Given the description of an element on the screen output the (x, y) to click on. 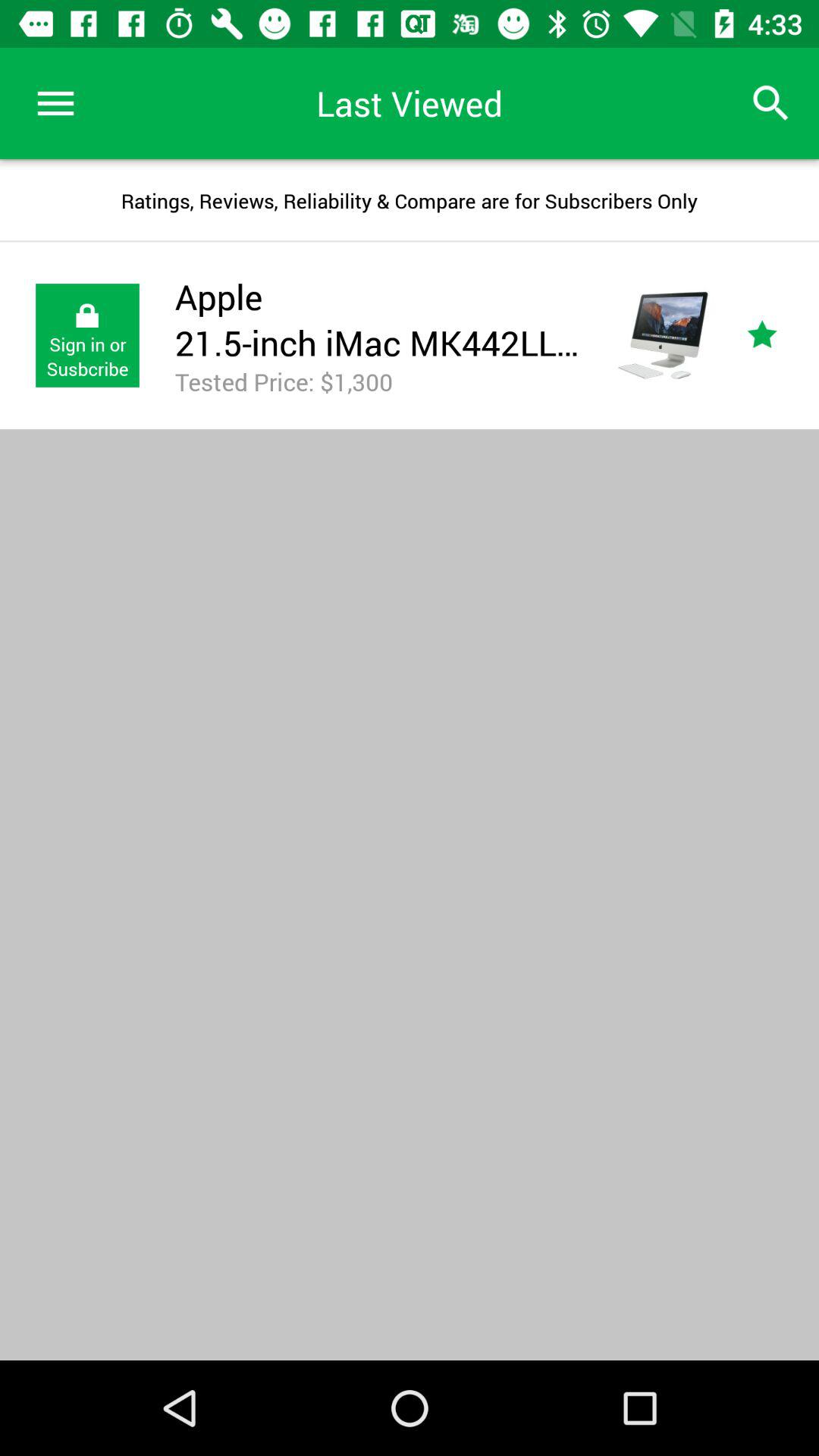
tap icon above the ratings reviews reliability icon (55, 103)
